Given the description of an element on the screen output the (x, y) to click on. 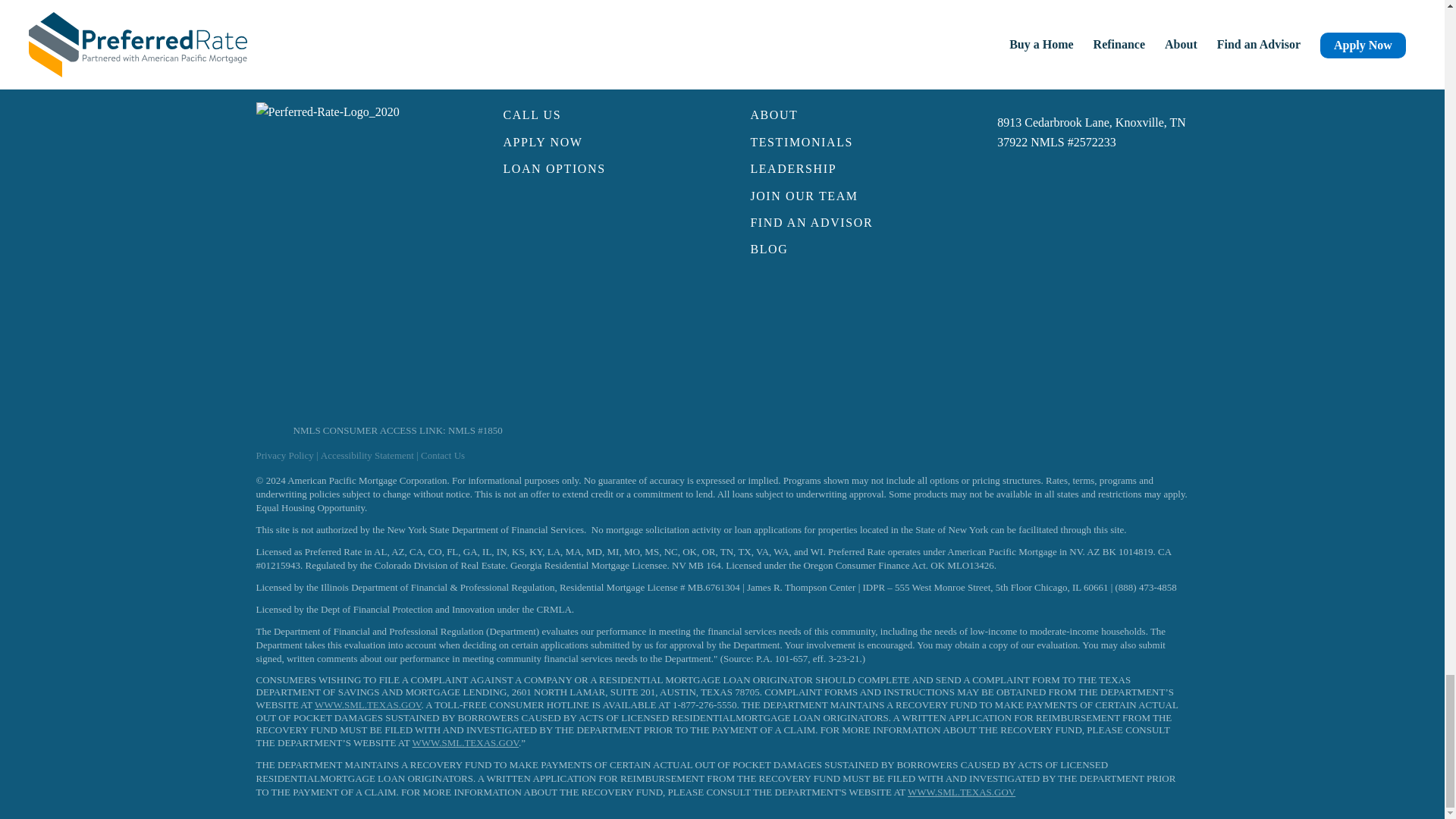
APPLY NOW (598, 142)
BLOG (844, 249)
LEADERSHIP (844, 169)
LOAN OPTIONS (598, 169)
CALL US (598, 115)
JOIN OUR TEAM (844, 196)
FIND AN ADVISOR (844, 222)
TESTIMONIALS (844, 142)
ABOUT (844, 115)
